Given the description of an element on the screen output the (x, y) to click on. 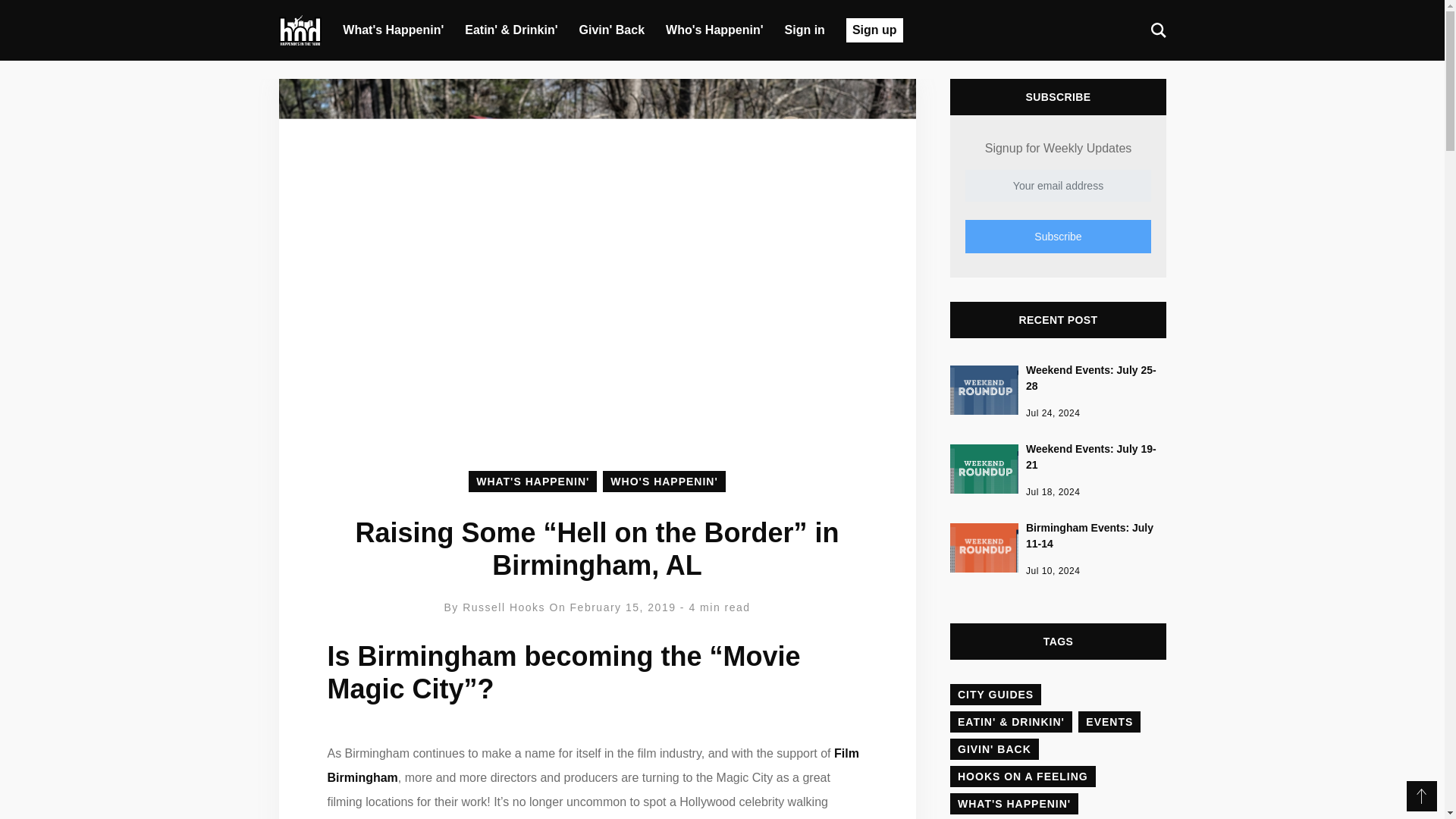
What's Happenin' (393, 30)
WHAT'S HAPPENIN' (532, 480)
Who's Happenin' (713, 30)
Sign up (873, 30)
Sign in (804, 30)
Givin' Back (612, 30)
Russell Hooks (505, 607)
WHO'S HAPPENIN' (663, 480)
Film Birmingham (593, 764)
Subscribe (1056, 236)
